Given the description of an element on the screen output the (x, y) to click on. 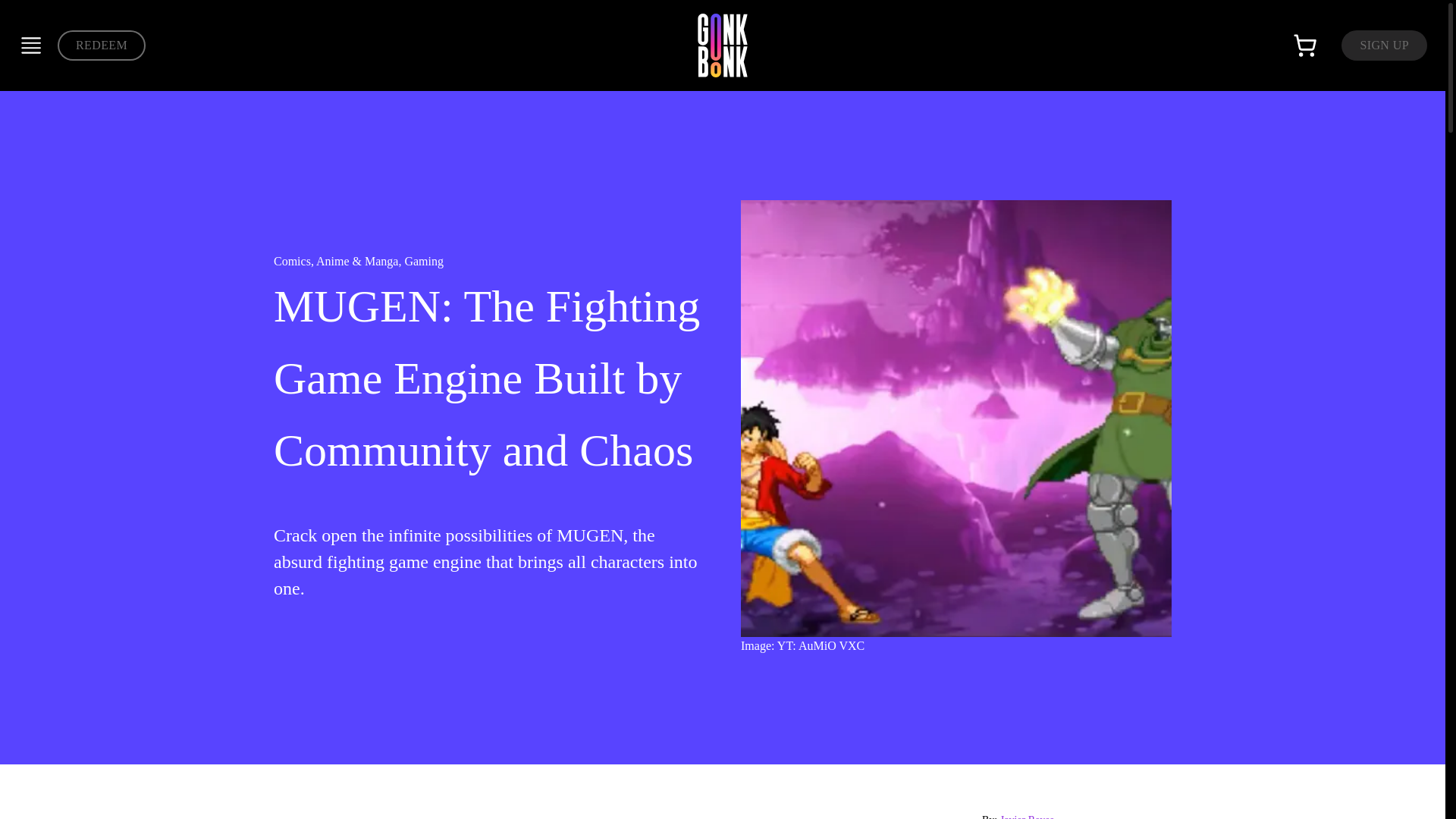
Gaming (424, 260)
Javier Reyes (1027, 816)
SIGN UP (1383, 45)
Comics (292, 260)
REDEEM (101, 45)
